Given the description of an element on the screen output the (x, y) to click on. 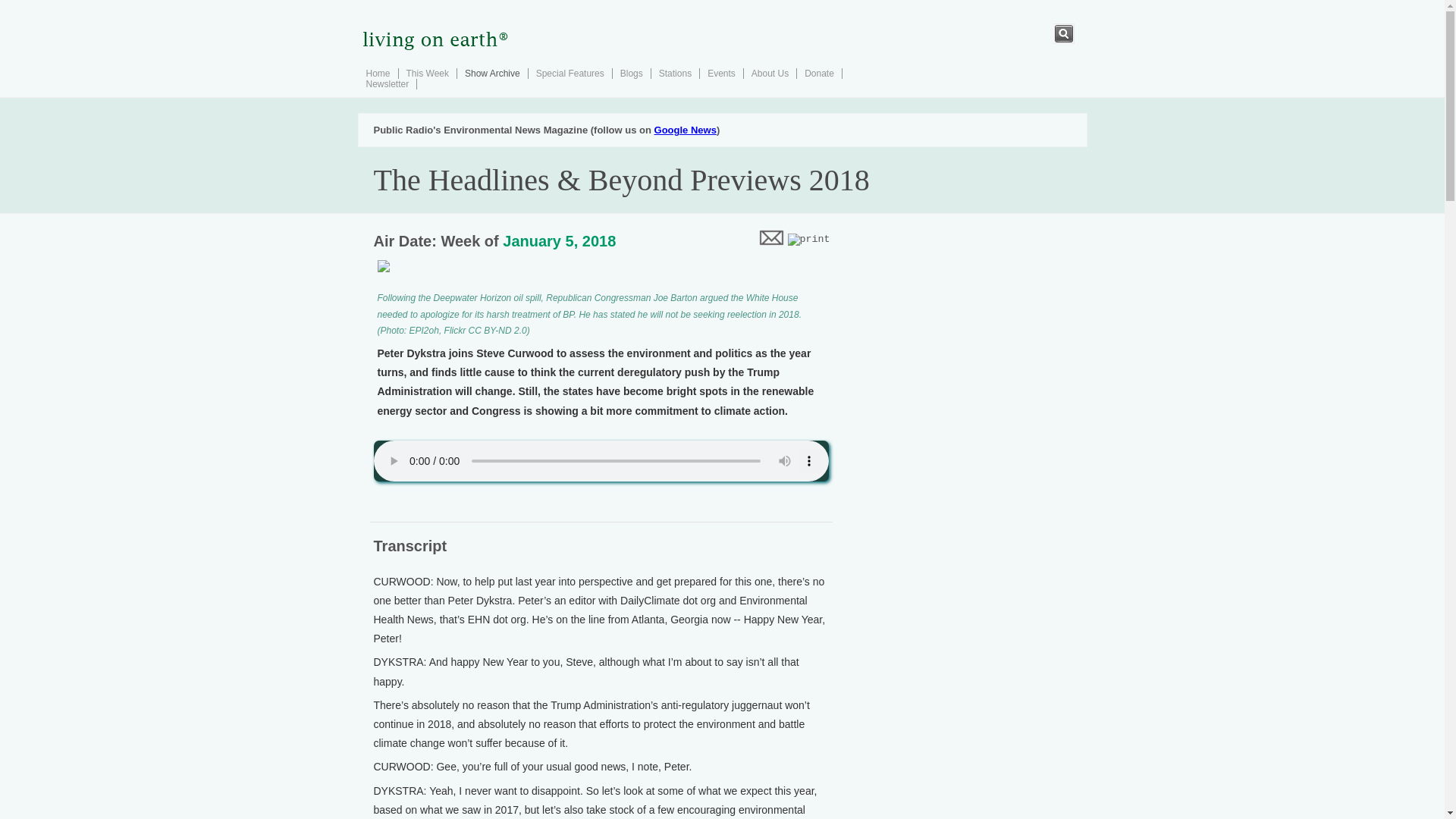
Special Features (569, 72)
This Week (427, 72)
Donate (819, 72)
Stations (675, 72)
January 5, 2018 (558, 240)
print (808, 239)
Show Archive (491, 72)
email (770, 236)
Events (721, 72)
Newsletter (387, 83)
About Us (770, 72)
Home (377, 72)
Google News (684, 129)
Blogs (631, 72)
